Given the description of an element on the screen output the (x, y) to click on. 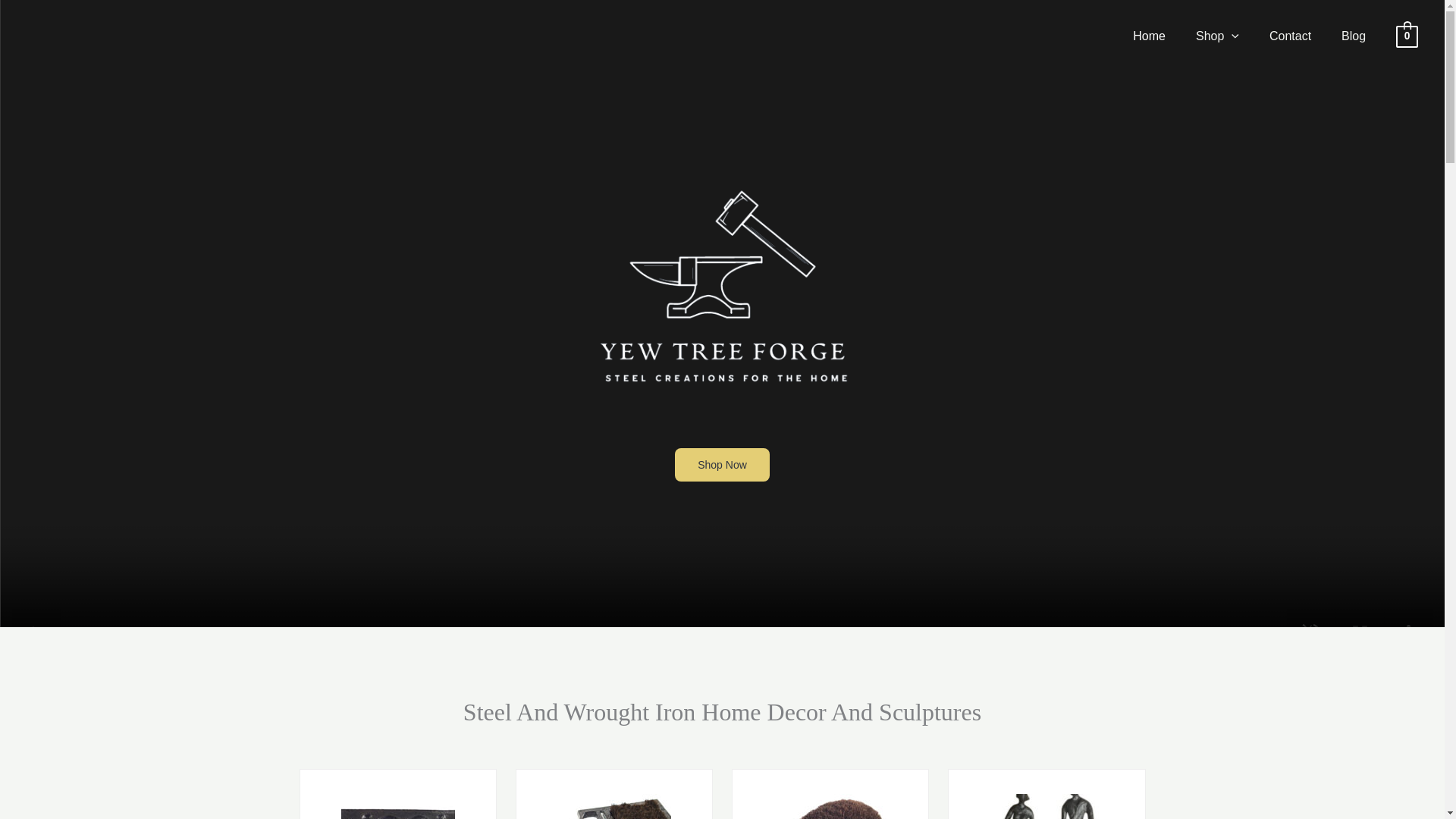
Shop (1216, 36)
